Given the description of an element on the screen output the (x, y) to click on. 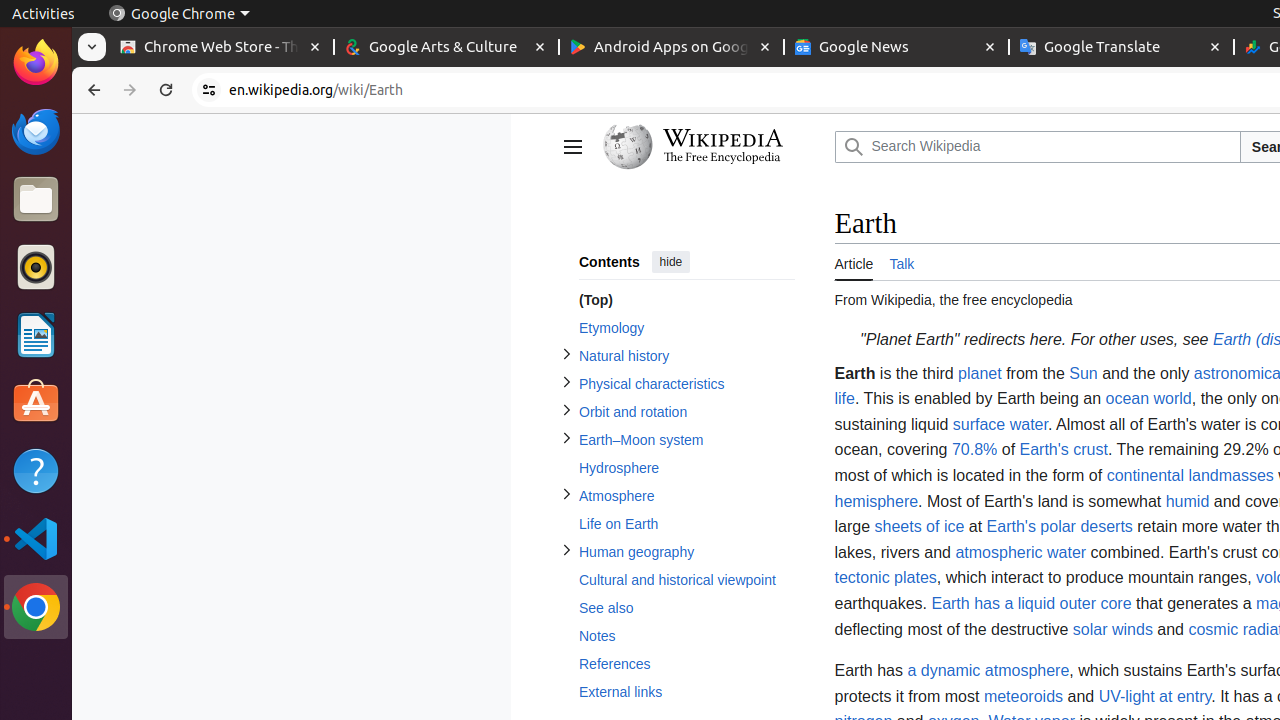
Toggle Human geography subsection Element type: push-button (566, 550)
70.8% Element type: link (974, 449)
Android Apps on Google Play - Memory usage - 103 MB Element type: page-tab (671, 47)
Earth's polar Element type: link (1031, 527)
Ubuntu Software Element type: push-button (36, 402)
